Given the description of an element on the screen output the (x, y) to click on. 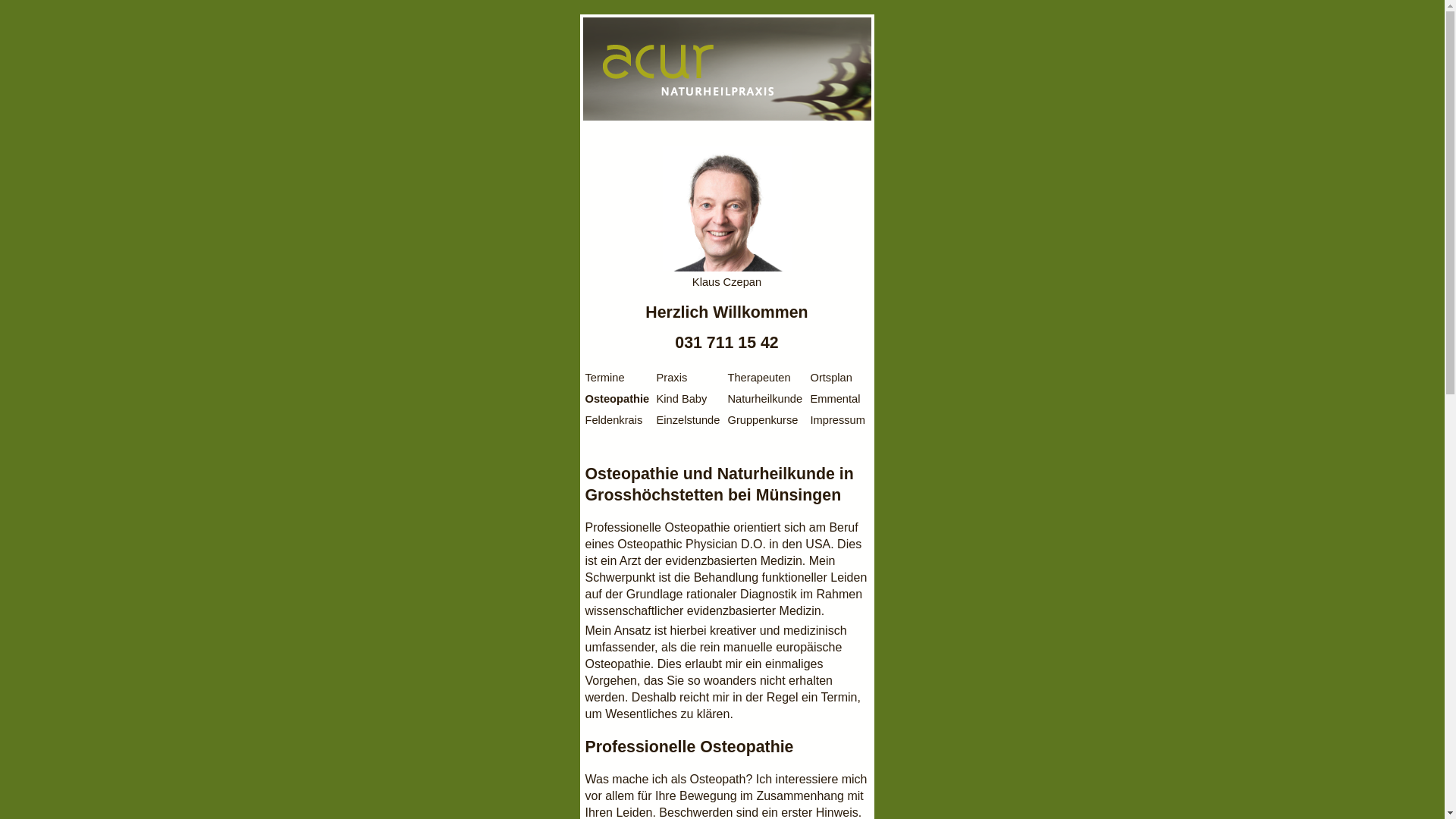
Termine Element type: text (604, 377)
Naturheilkunde Element type: text (765, 398)
Professionelle Osteopathie Element type: text (657, 526)
Gruppenkurse Element type: text (763, 420)
Einzelstunde Element type: text (688, 420)
Feldenkrais Element type: text (614, 420)
Praxis Element type: text (671, 377)
Therapeuten Element type: text (759, 377)
Ortsplan Element type: text (830, 377)
031 711 15 42 Element type: text (726, 342)
Impressum Element type: text (836, 420)
Osteopathic Physician D.O. Element type: text (691, 543)
Kind Baby Element type: text (681, 398)
Emmental Element type: text (834, 398)
